Given the description of an element on the screen output the (x, y) to click on. 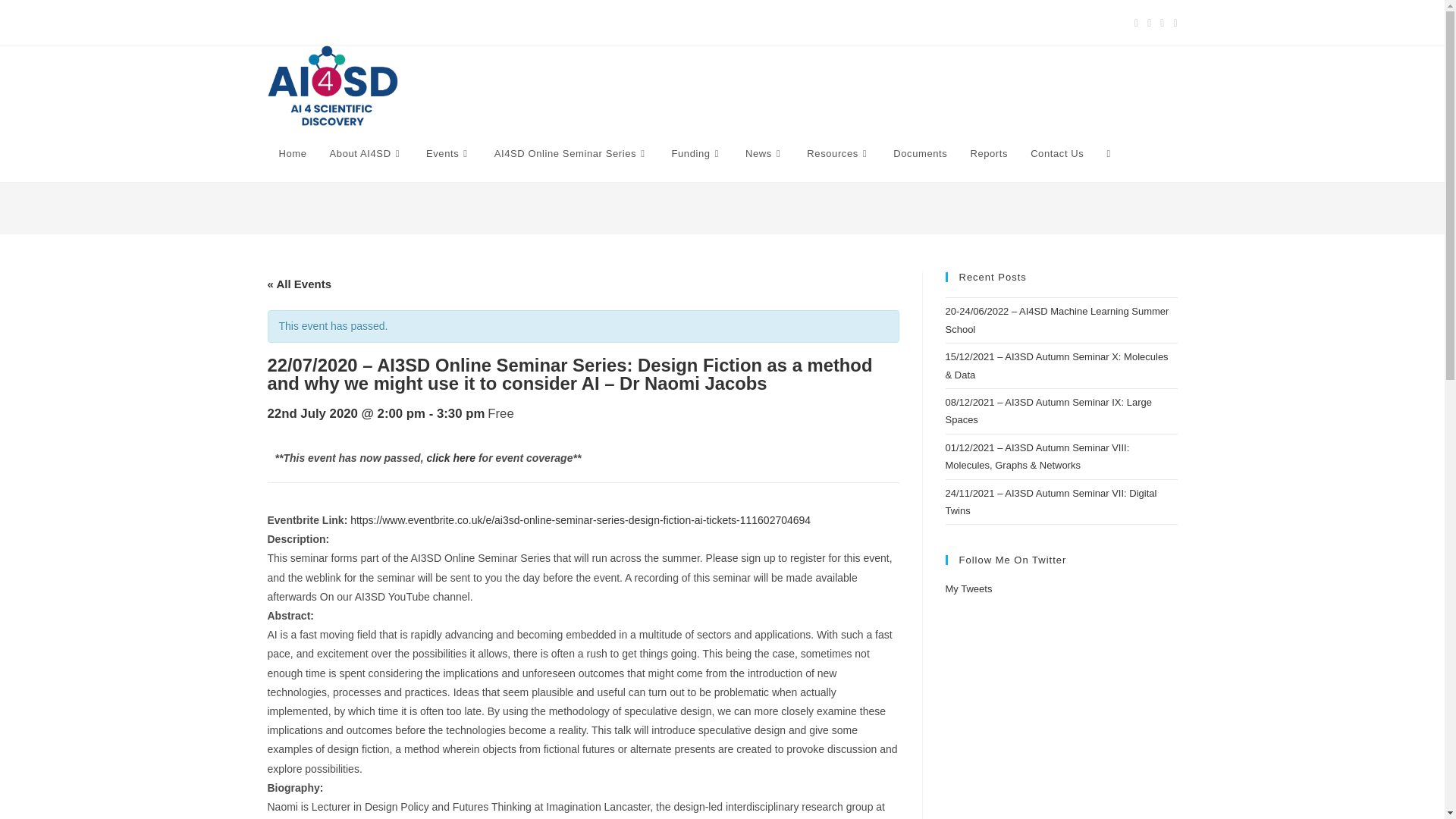
Funding (696, 153)
AI4SD Online Seminar Series (572, 153)
About AI4SD (366, 153)
Home (291, 153)
News (763, 153)
Events (448, 153)
